Given the description of an element on the screen output the (x, y) to click on. 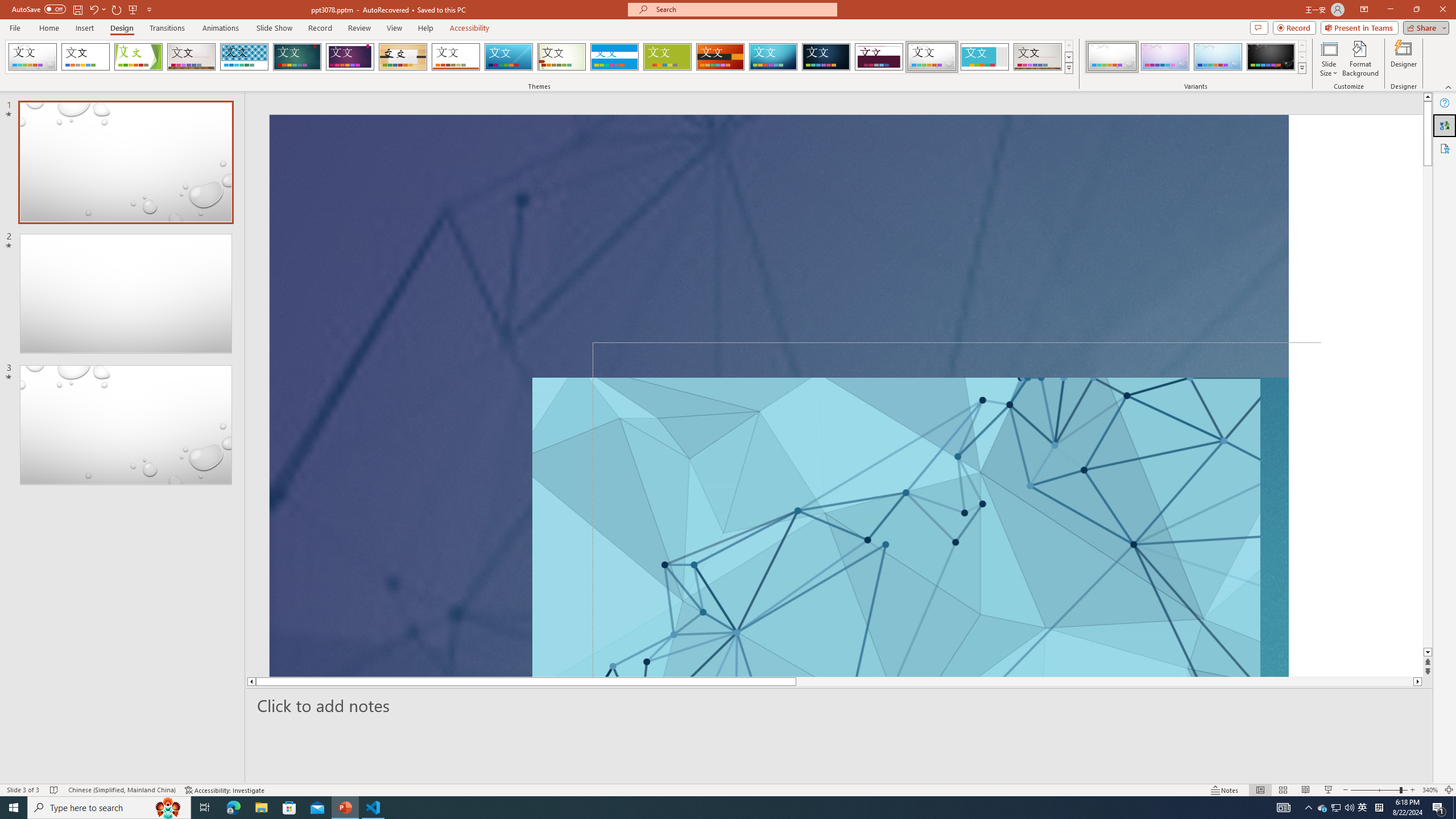
Droplet Variant 3 (1217, 56)
Zoom 340% (1430, 790)
Ion (296, 56)
Ion Boardroom (350, 56)
Slide Notes (839, 705)
